Given the description of an element on the screen output the (x, y) to click on. 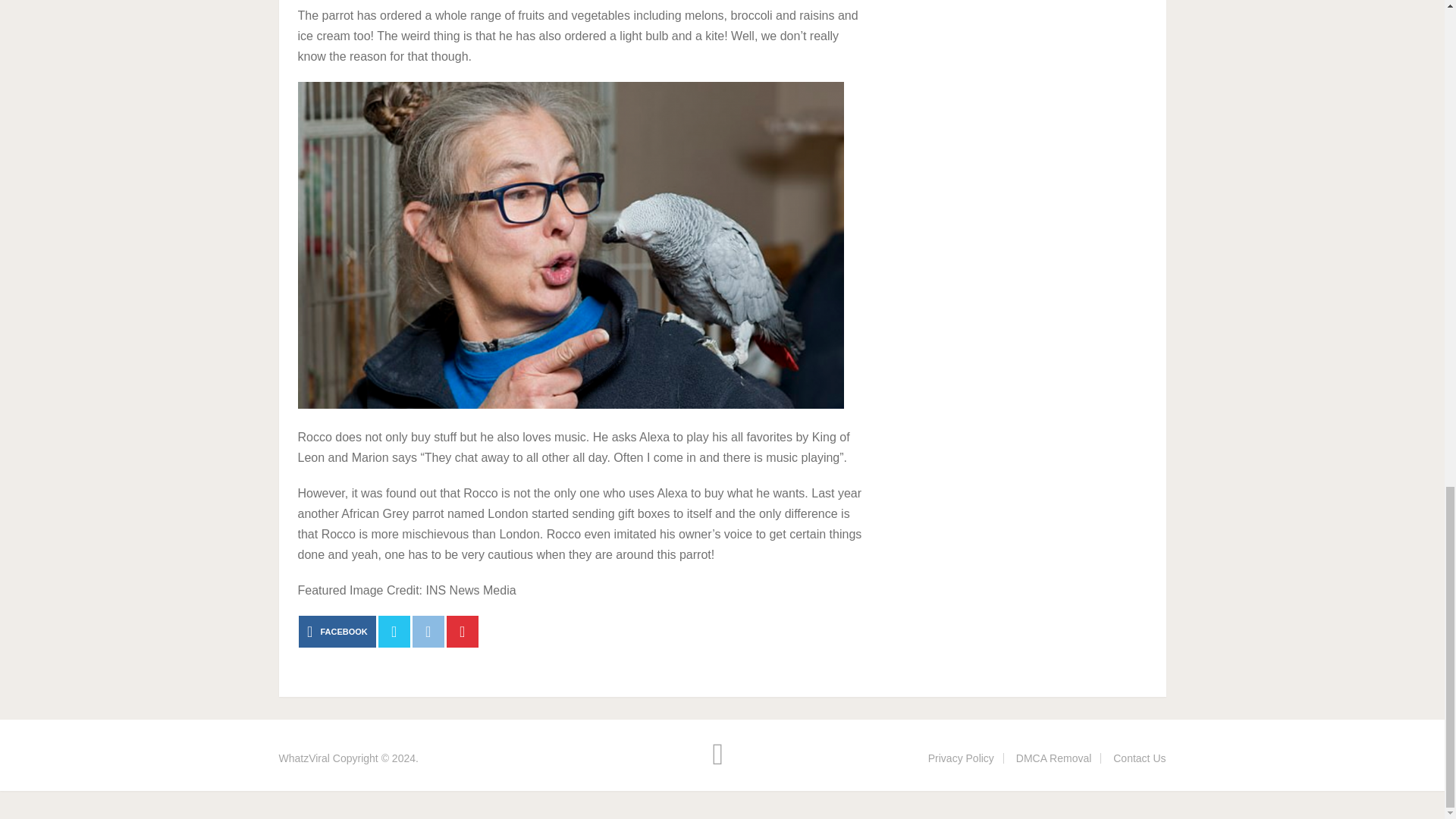
 Be Updated (304, 758)
FACEBOOK (336, 631)
